Given the description of an element on the screen output the (x, y) to click on. 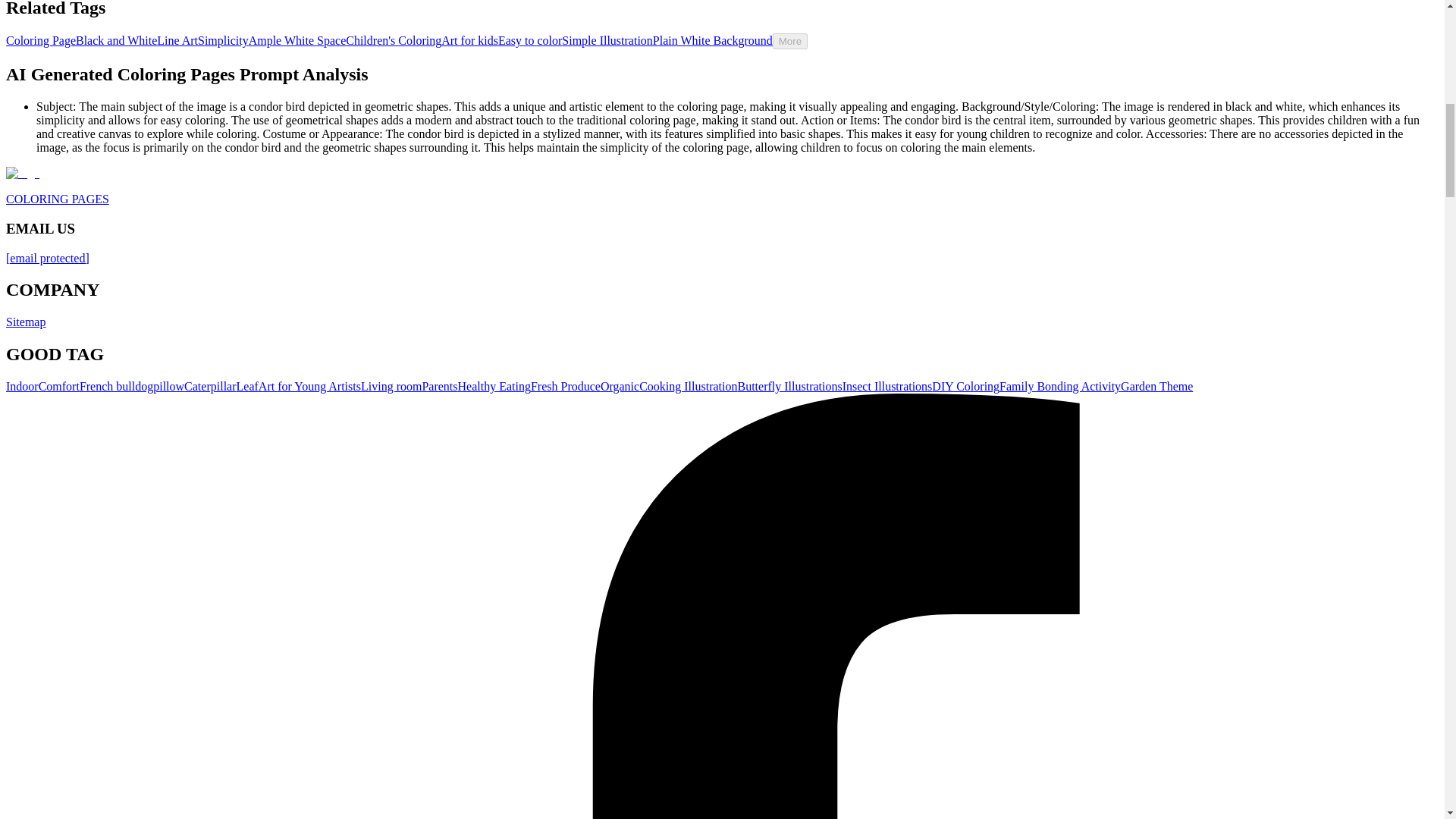
Line Art (177, 40)
Simplicity (223, 40)
Black and White (116, 40)
French bulldog (116, 386)
Fresh Produce (565, 386)
Living room (391, 386)
Cooking Illustration (687, 386)
Organic (619, 386)
Comfort (59, 386)
Indoor (22, 386)
pillow (168, 386)
Healthy Eating (494, 386)
Organic (619, 386)
Living room (391, 386)
Sitemap (25, 321)
